Given the description of an element on the screen output the (x, y) to click on. 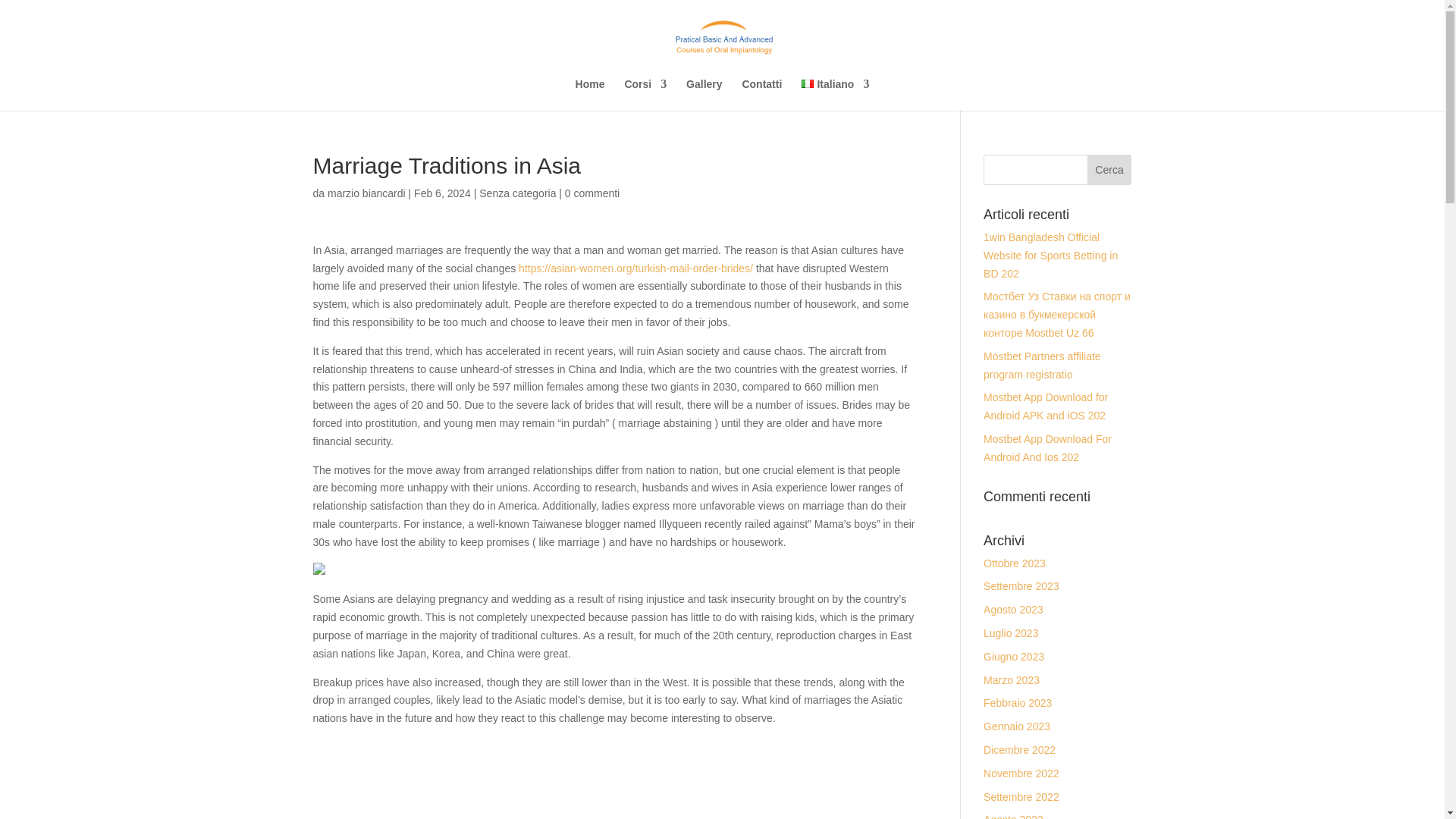
Contatti (761, 94)
Post di marzio biancardi (366, 193)
Mostbet App Download for Android APK and iOS 202 (1046, 406)
Corsi (645, 94)
Mostbet Partners affiliate program registratio (1042, 365)
0 commenti (592, 193)
Giugno 2023 (1013, 656)
Settembre 2023 (1021, 585)
Cerca (1109, 169)
Gallery (703, 94)
marzio biancardi (366, 193)
Mostbet App Download For Android And Ios 202 (1048, 448)
Agosto 2023 (1013, 609)
Cerca (1109, 169)
Marzo 2023 (1011, 680)
